Given the description of an element on the screen output the (x, y) to click on. 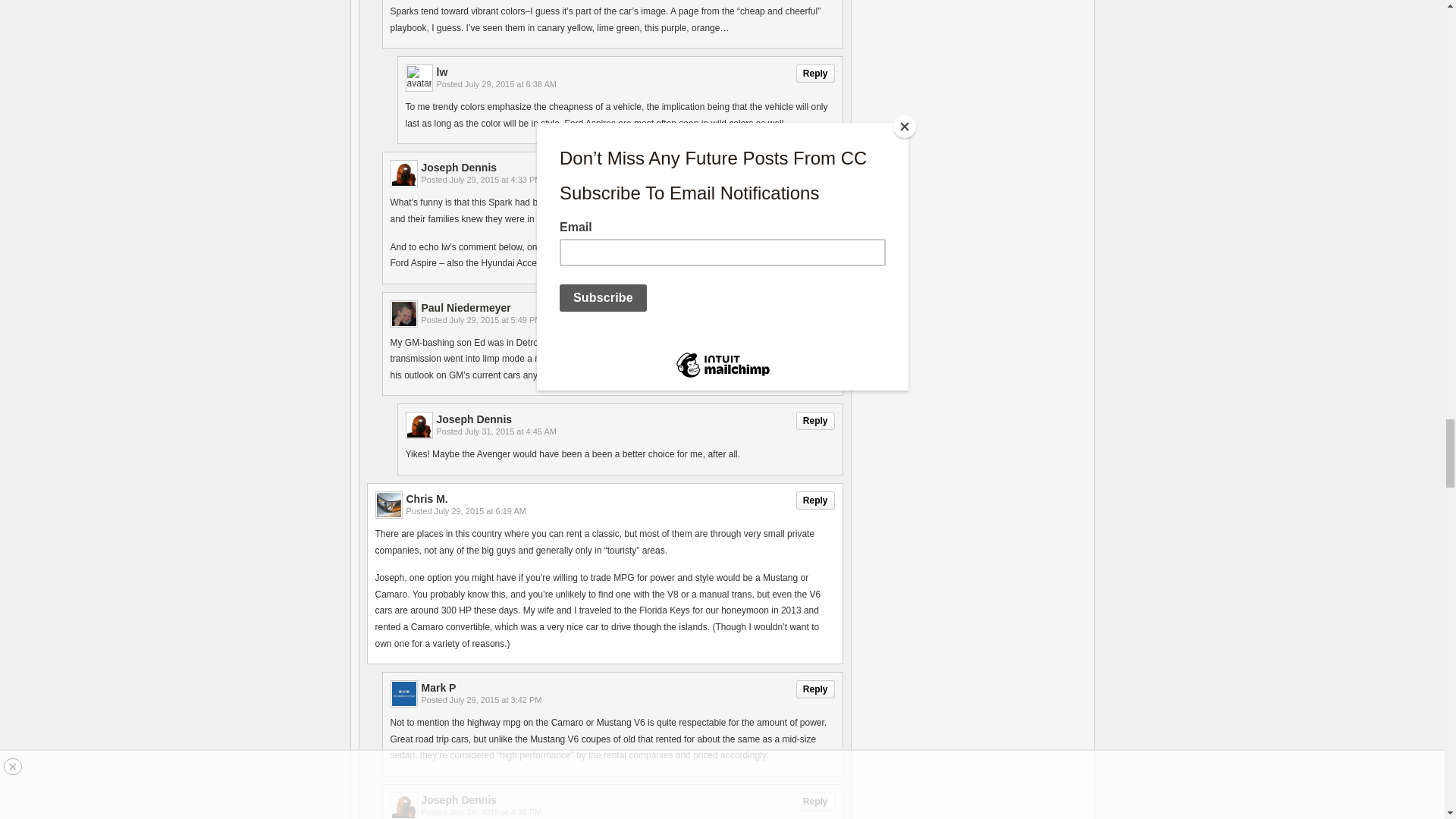
2015-07-29T17:49:18-07:00 (495, 319)
2015-07-29T06:38:29-07:00 (510, 83)
2015-07-31T04:45:22-07:00 (510, 430)
2015-07-29T16:33:35-07:00 (495, 179)
